Given the description of an element on the screen output the (x, y) to click on. 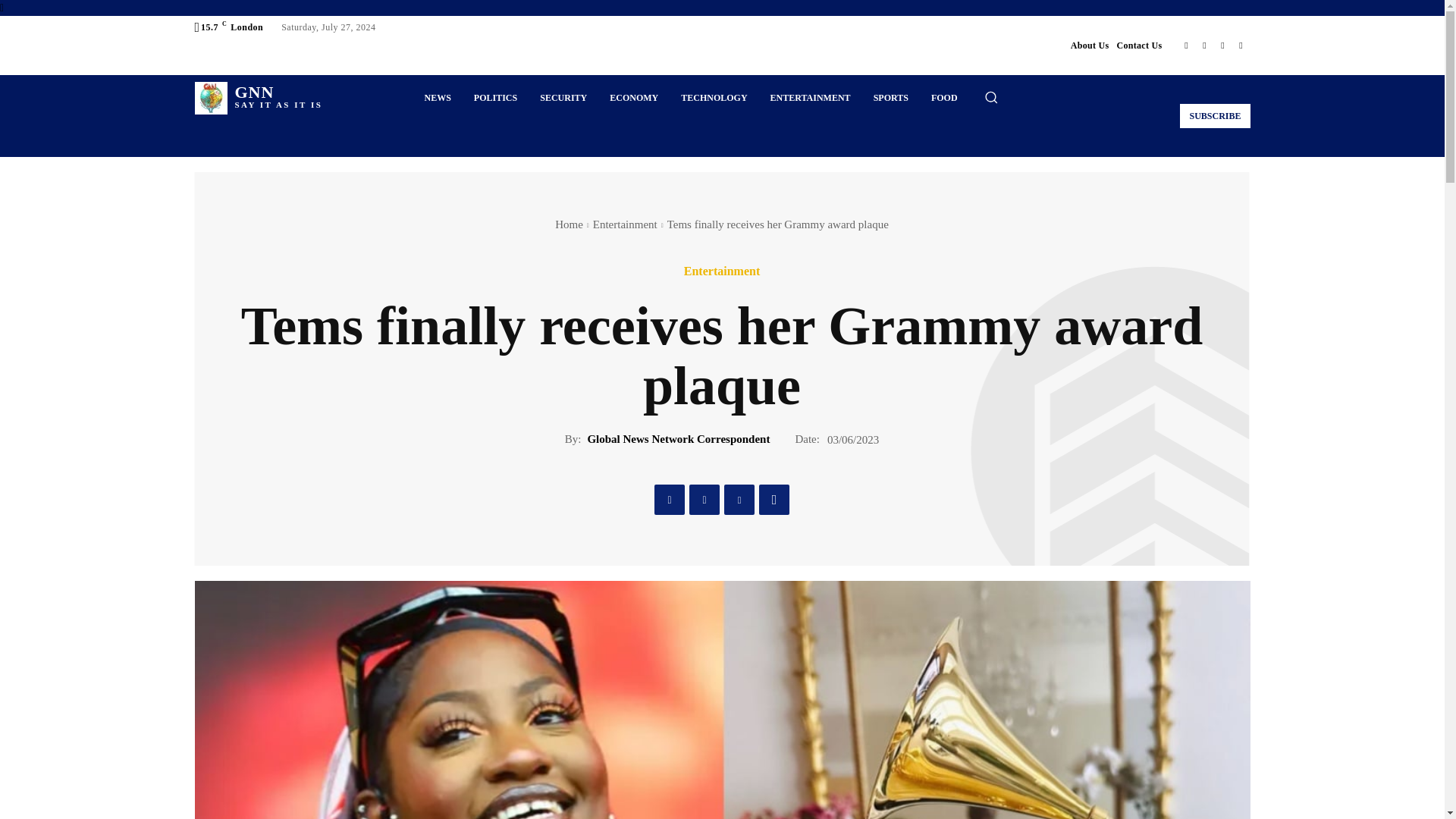
Contact Us (1138, 45)
Youtube (1240, 45)
POLITICS (495, 97)
SPORTS (890, 97)
SUBSCRIBE (1214, 115)
Twitter (1221, 45)
NEWS (436, 97)
SECURITY (563, 97)
FOOD (944, 97)
About Us (1089, 45)
ECONOMY (633, 97)
Instagram (1203, 45)
Subscribe (1214, 115)
TECHNOLOGY (257, 97)
